Given the description of an element on the screen output the (x, y) to click on. 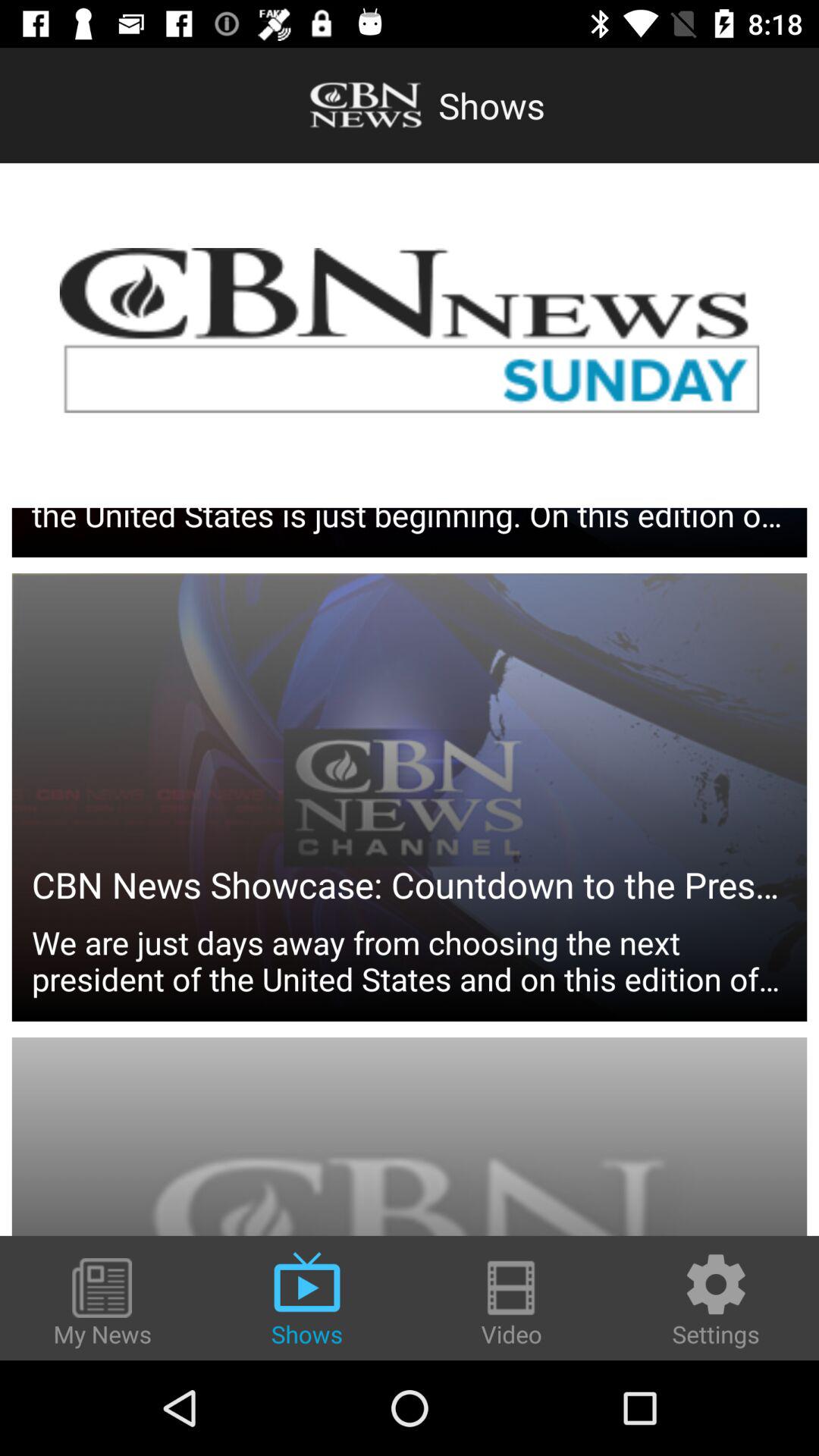
press the my news icon (102, 1304)
